Given the description of an element on the screen output the (x, y) to click on. 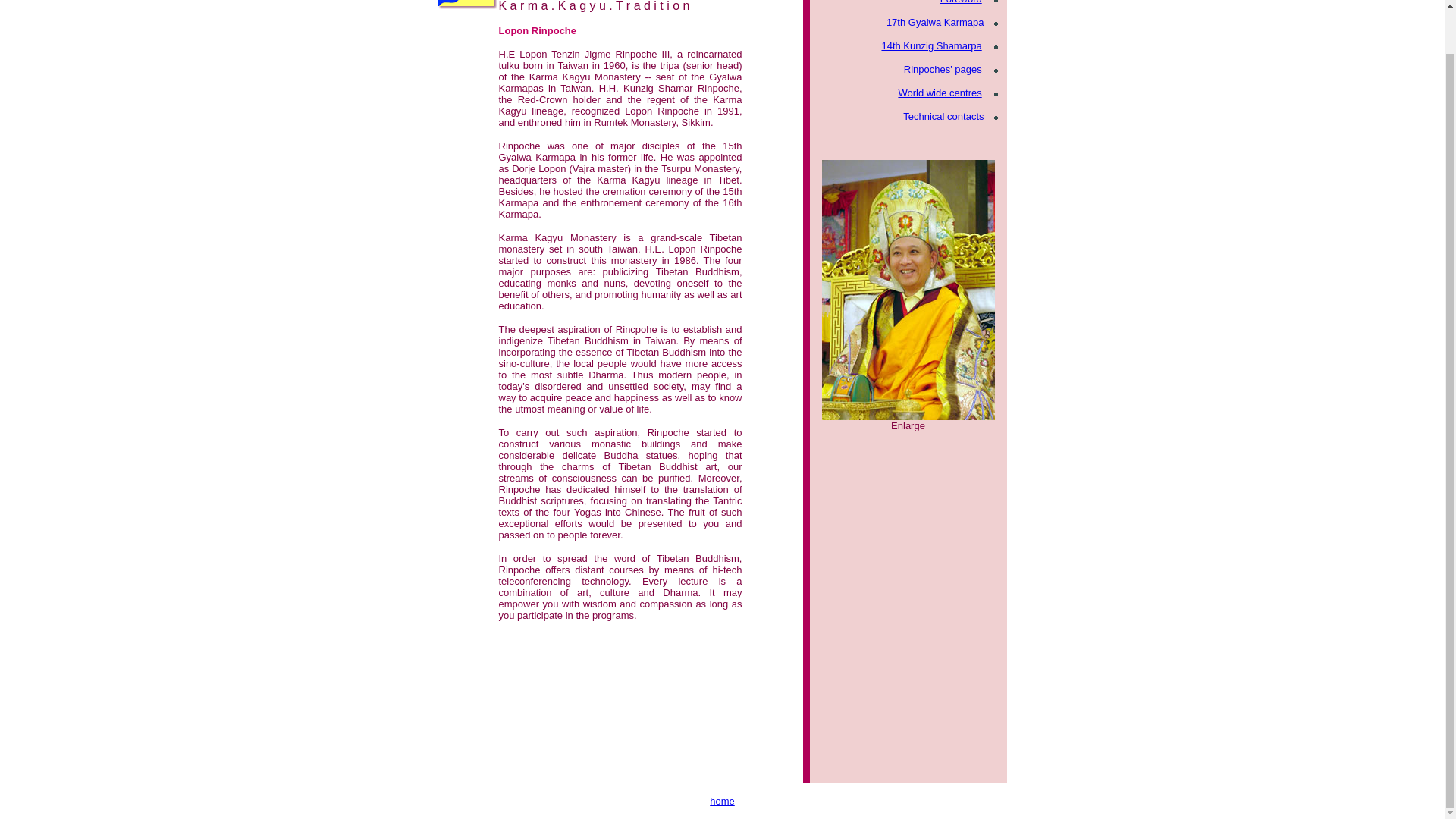
Enlarge (907, 424)
Rinpoches' pages (942, 69)
14th Kunzig Shamarpa (930, 45)
Technical contacts (943, 116)
Foreword (960, 2)
World wide centres (939, 92)
home (722, 800)
17th Gyalwa Karmapa (935, 21)
